Given the description of an element on the screen output the (x, y) to click on. 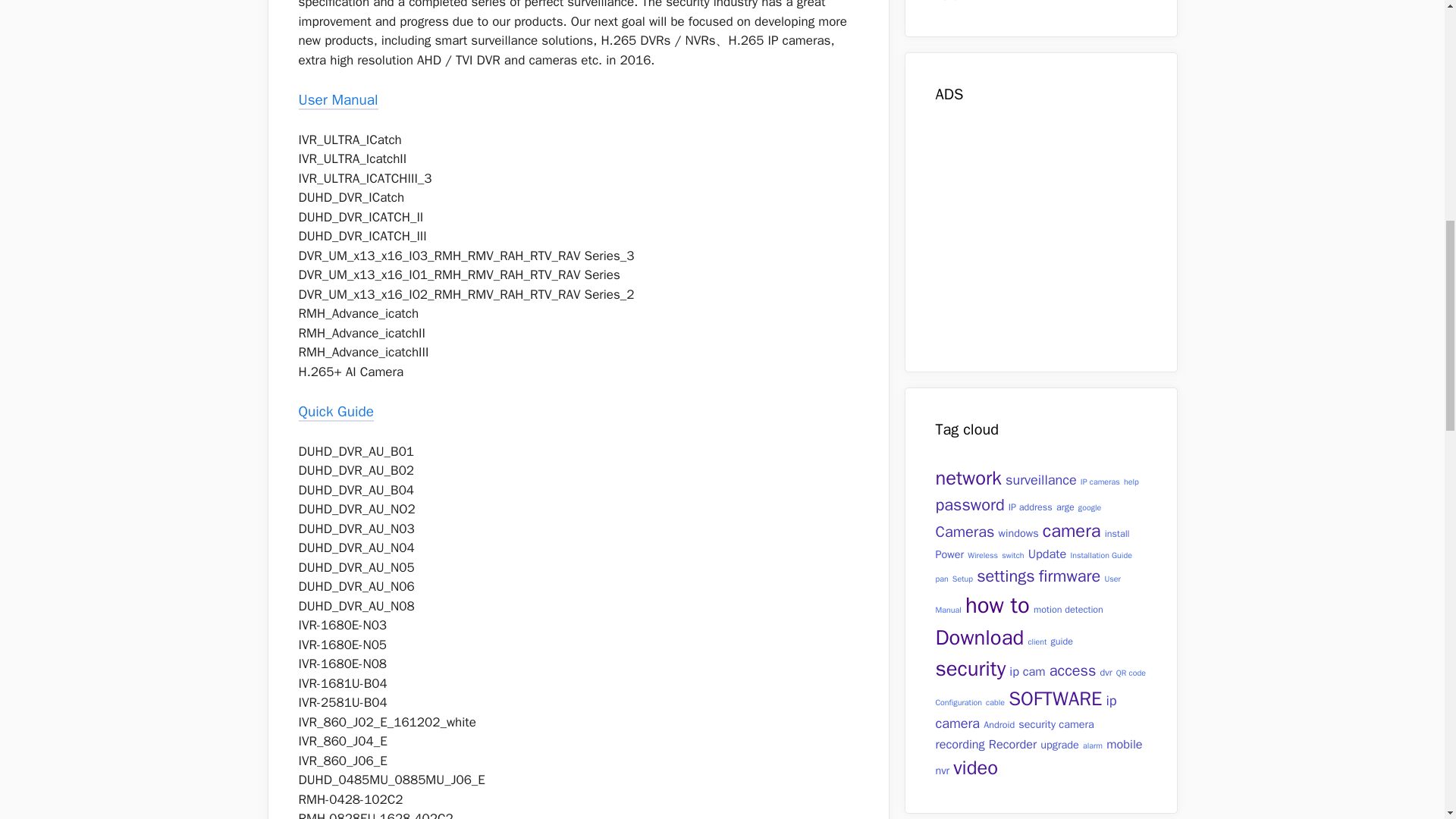
Advertisement (1064, 234)
160 topics (1041, 479)
244 topics (968, 478)
91 topics (1099, 480)
User Manual (338, 100)
Quick Guide (336, 412)
